Given the description of an element on the screen output the (x, y) to click on. 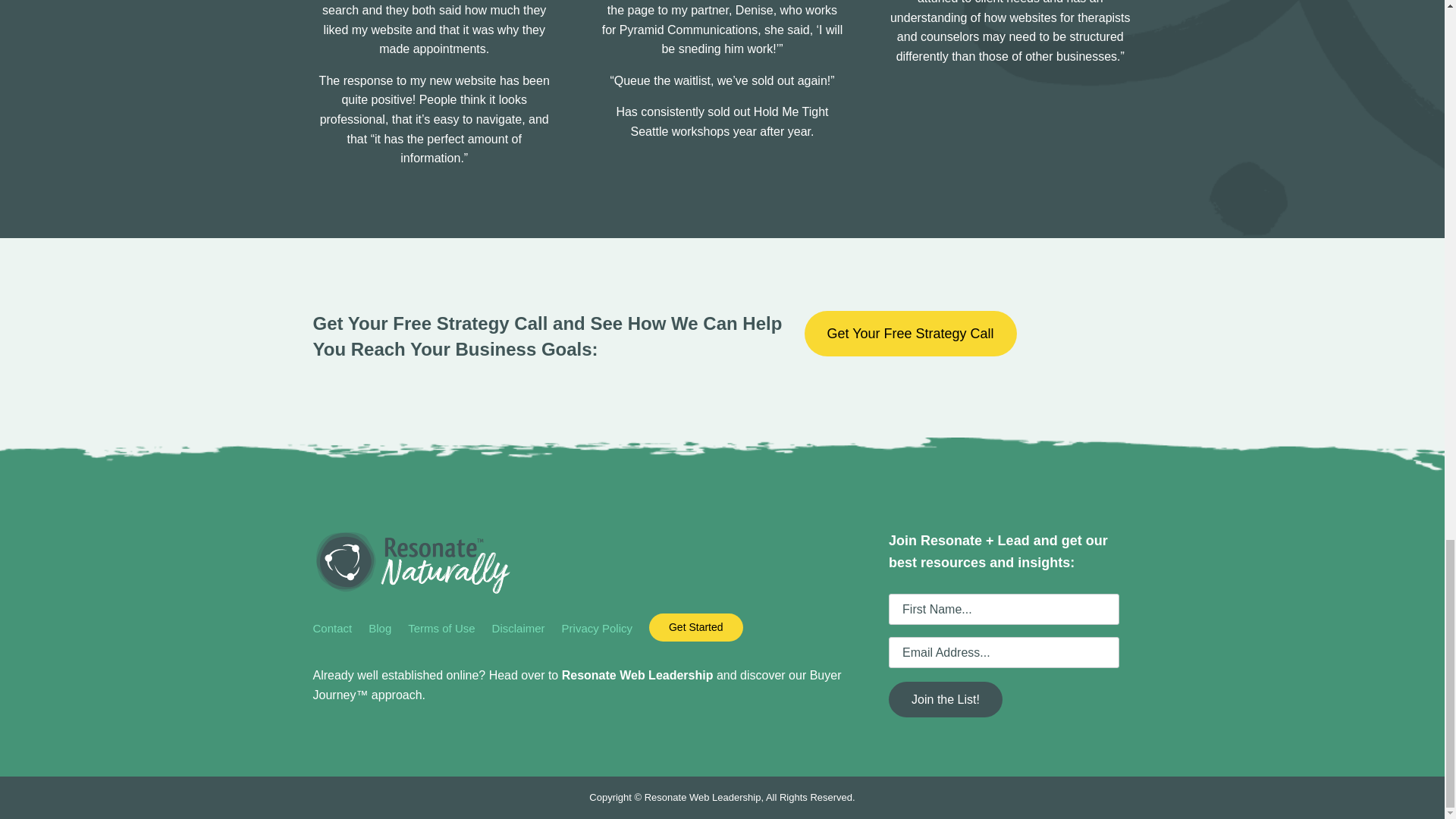
Join the List! (945, 699)
Contact (332, 632)
Join the List! (945, 699)
Privacy Policy (596, 632)
Get Your Free Strategy Call (909, 333)
Terms of Use (440, 632)
Get Started (695, 627)
Blog (379, 632)
Resonate Web Leadership (637, 675)
Disclaimer (518, 632)
